Given the description of an element on the screen output the (x, y) to click on. 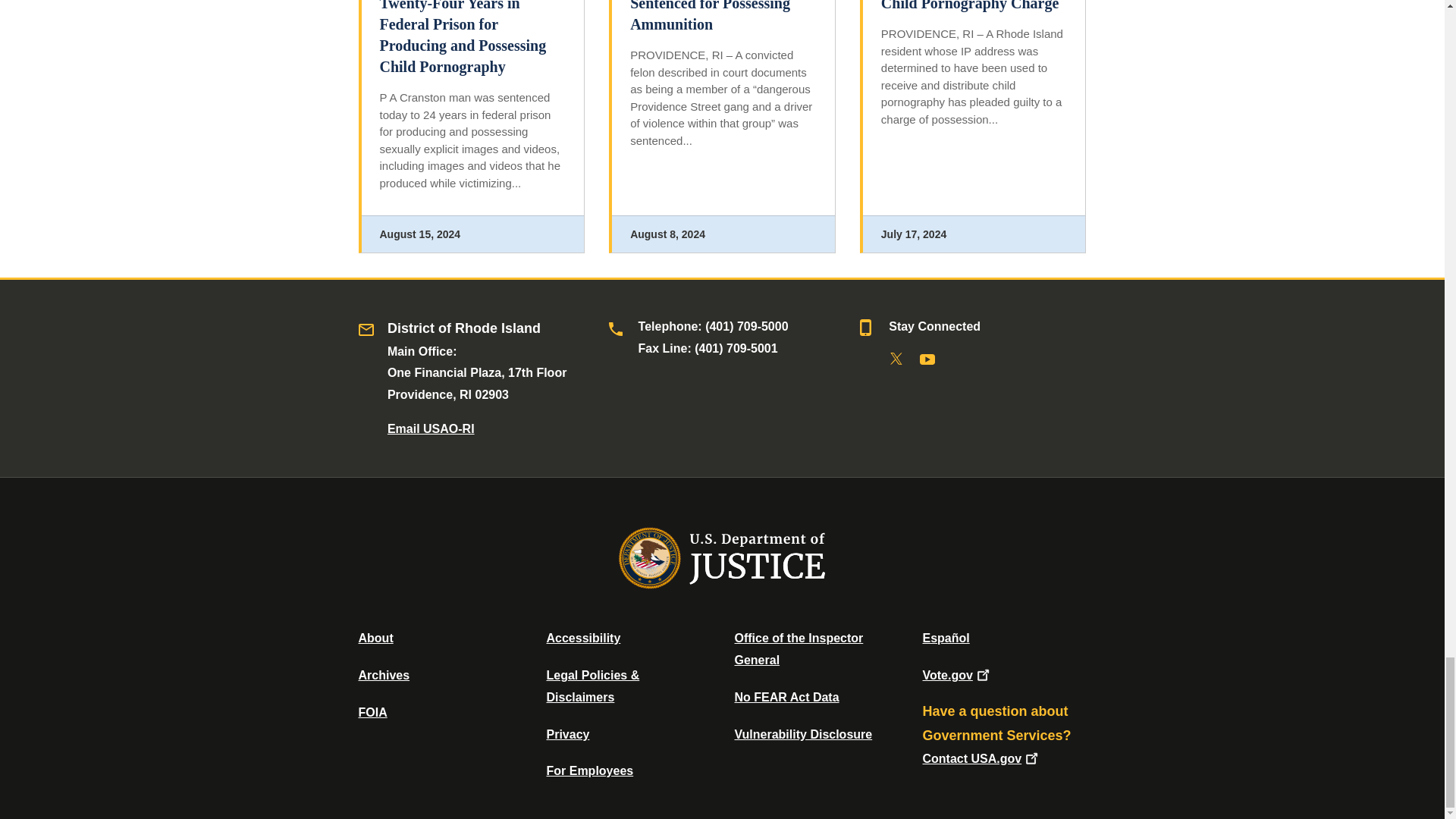
Data Posted Pursuant To The No Fear Act (785, 697)
Office of Information Policy (372, 712)
Legal Policies and Disclaimers (592, 686)
Department of Justice Archive (383, 675)
Accessibility Statement (583, 637)
For Employees (589, 770)
About DOJ (375, 637)
